Given the description of an element on the screen output the (x, y) to click on. 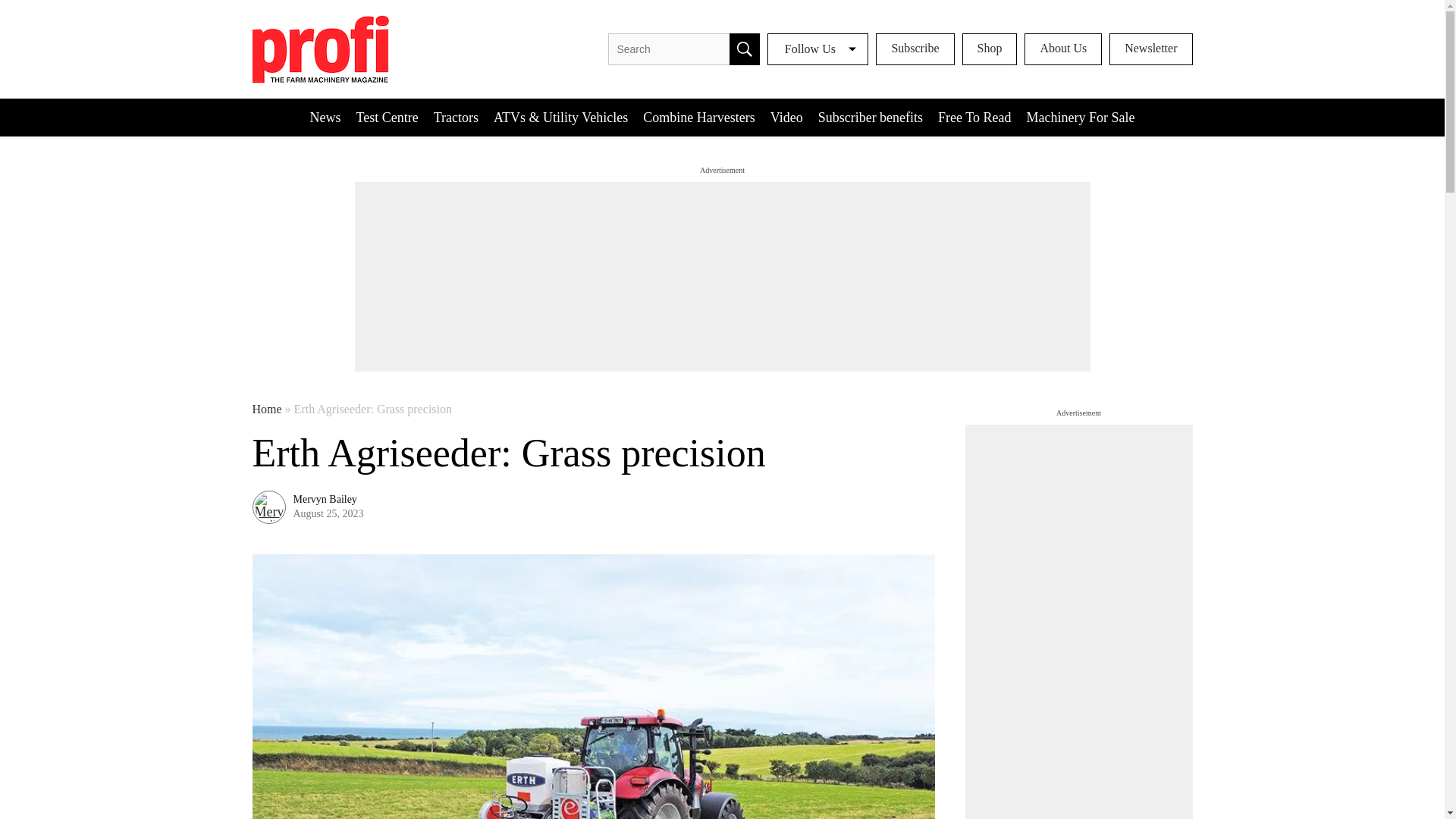
About Us (1063, 49)
Shop (988, 49)
News (325, 117)
Test Centre (387, 117)
Newsletter (1150, 49)
Mervyn Bailey (324, 499)
Home (266, 409)
Tractors (456, 117)
Search (744, 49)
Combine Harvesters (697, 117)
